Given the description of an element on the screen output the (x, y) to click on. 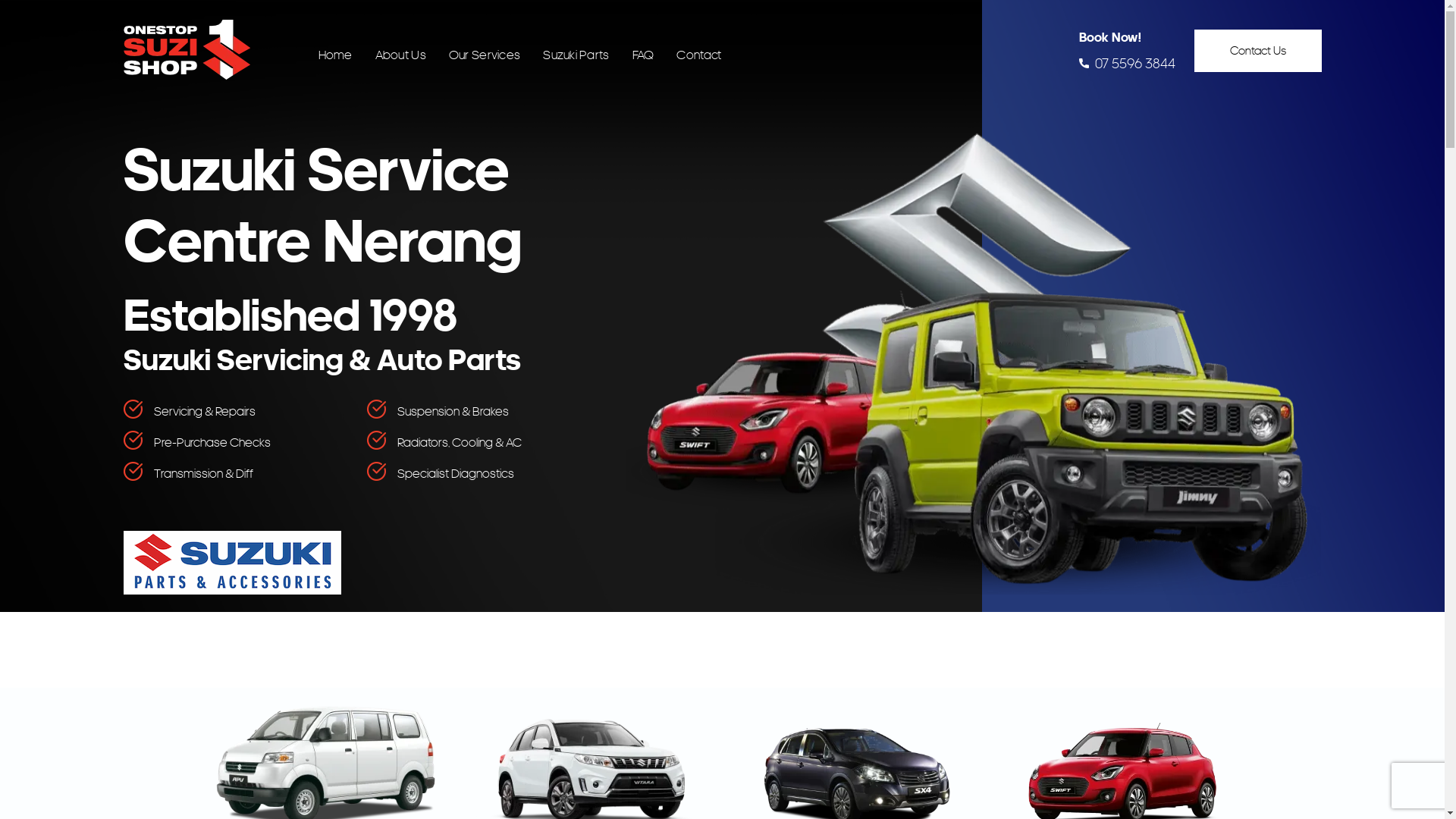
Our Services Element type: text (484, 54)
07 5596 3844 Element type: text (1126, 63)
Suzuki Parts Element type: text (575, 54)
About Us Element type: text (400, 54)
FAQ Element type: text (643, 54)
Home Element type: text (335, 54)
Contact Element type: text (698, 54)
Contact Us Element type: text (1257, 49)
